Given the description of an element on the screen output the (x, y) to click on. 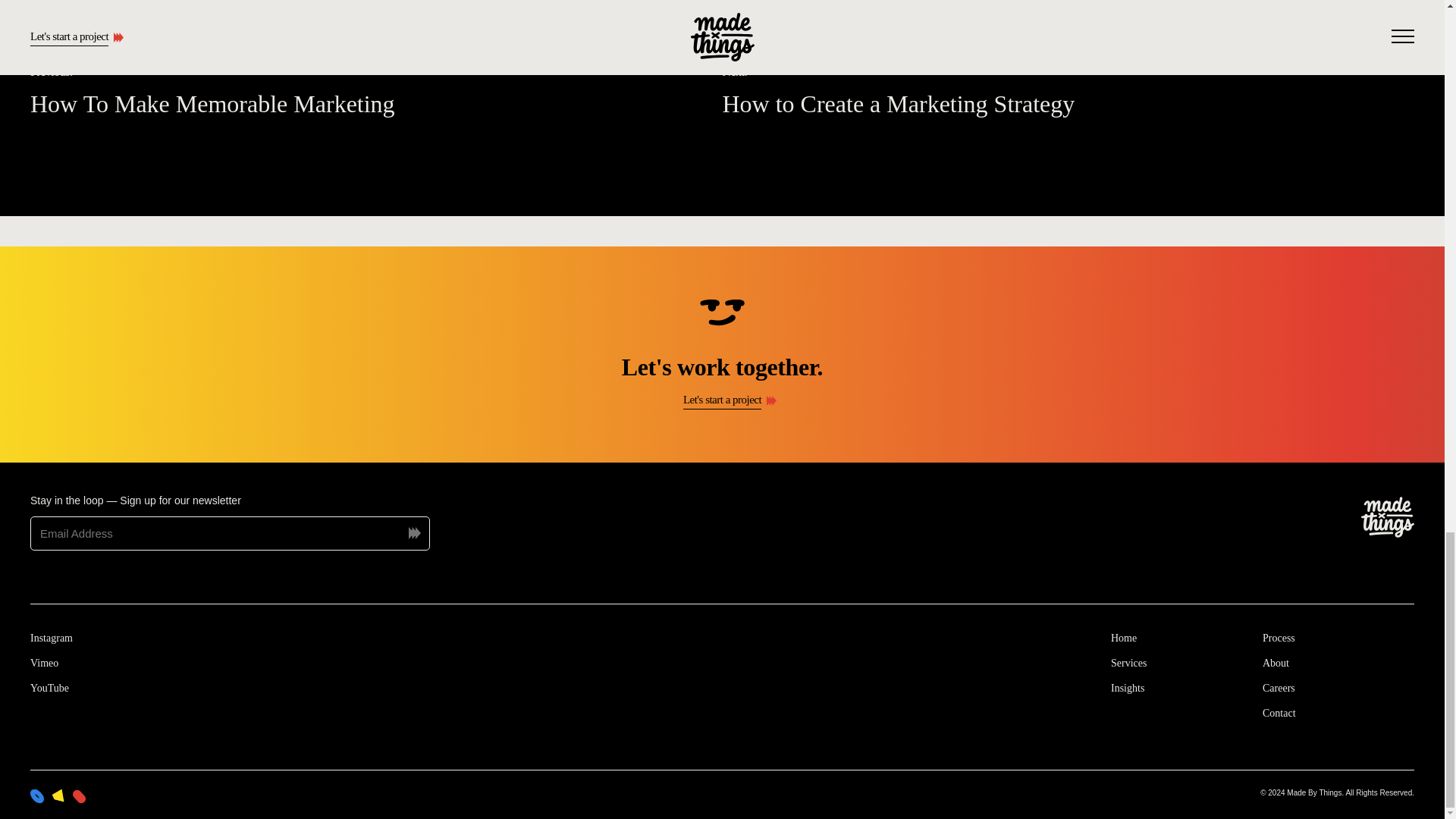
Insights (1127, 687)
Let's start a project (721, 400)
YouTube (49, 687)
Contact (1278, 713)
Process (1067, 89)
Careers (1278, 637)
Instagram (1278, 687)
About (51, 637)
Vimeo (376, 89)
Services (1275, 663)
Submit (44, 663)
Home (1128, 663)
